Given the description of an element on the screen output the (x, y) to click on. 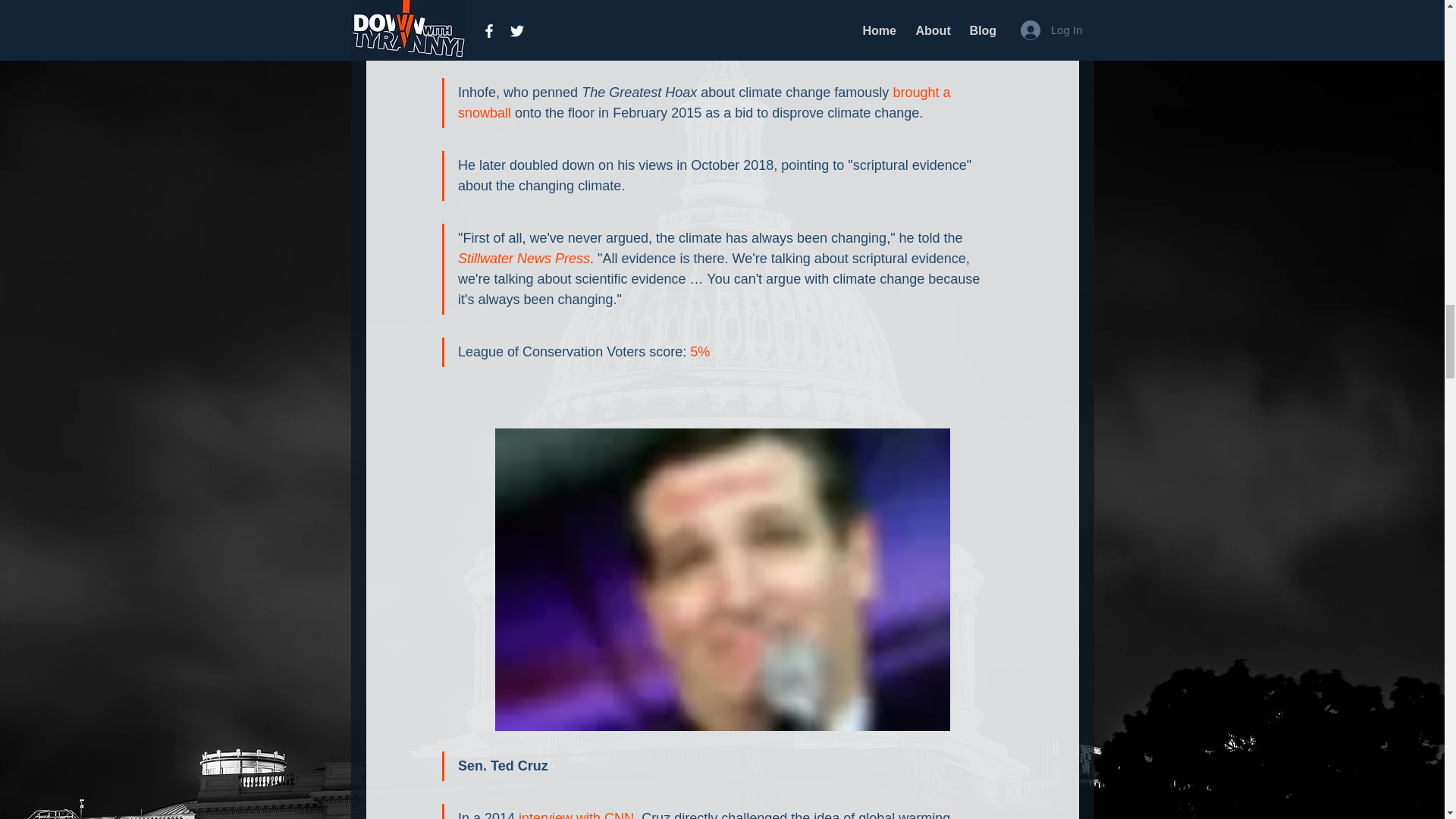
interview with CNN (575, 814)
brought a snowball (705, 102)
Stillwater News Press (523, 258)
